Given the description of an element on the screen output the (x, y) to click on. 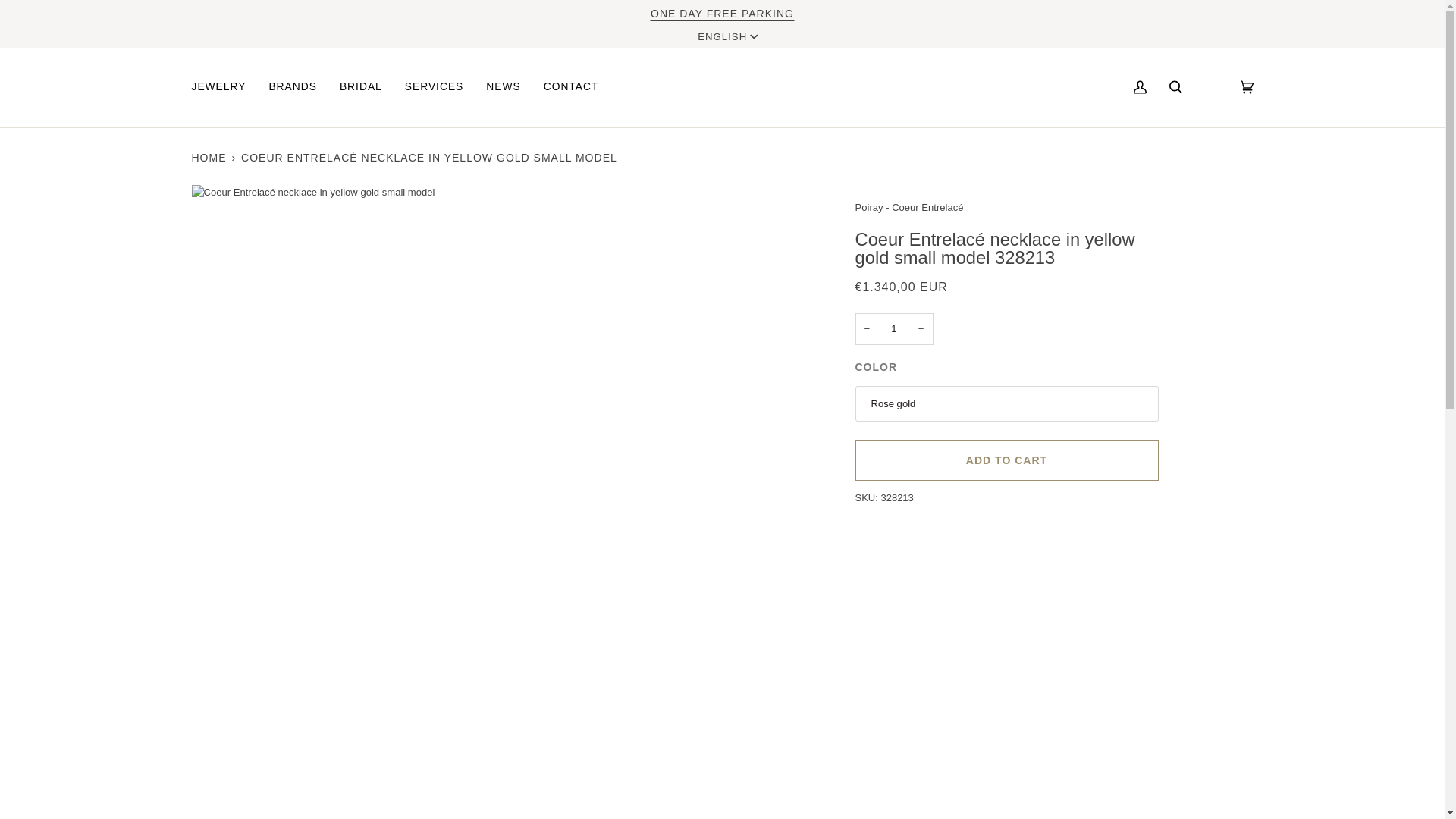
1 (894, 328)
Back to the frontpage (208, 157)
ENGLISH (726, 37)
ONE DAY FREE PARKING (721, 13)
BRANDS (293, 87)
Book your private appointment (721, 13)
SERVICES (434, 87)
